Given the description of an element on the screen output the (x, y) to click on. 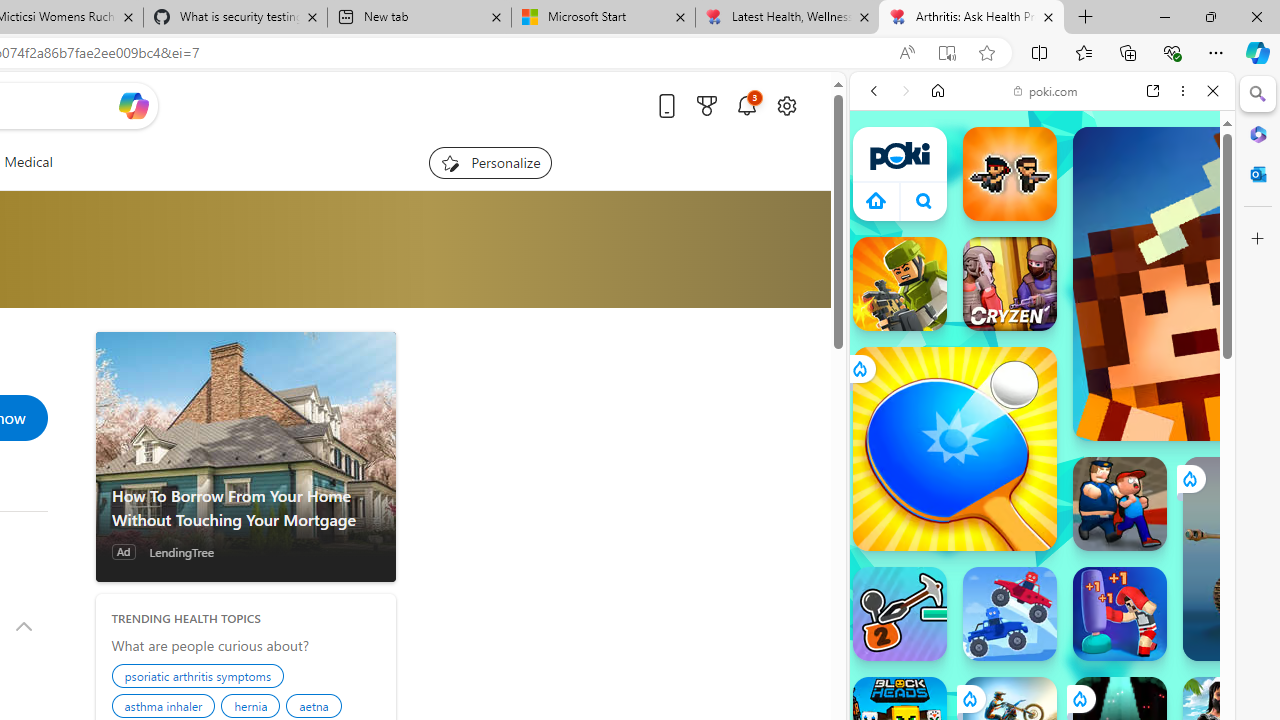
Ping Pong Go! (954, 448)
Medical (28, 161)
Zombie Rush Zombie Rush (1009, 173)
Sports Games (1042, 665)
Class: rCs5cyEiqiTpYvt_VBCR (1079, 698)
Show More Two Player Games (1164, 570)
Stickman Climb 2 (899, 613)
Punch Legend Simulator (1119, 613)
